Given the description of an element on the screen output the (x, y) to click on. 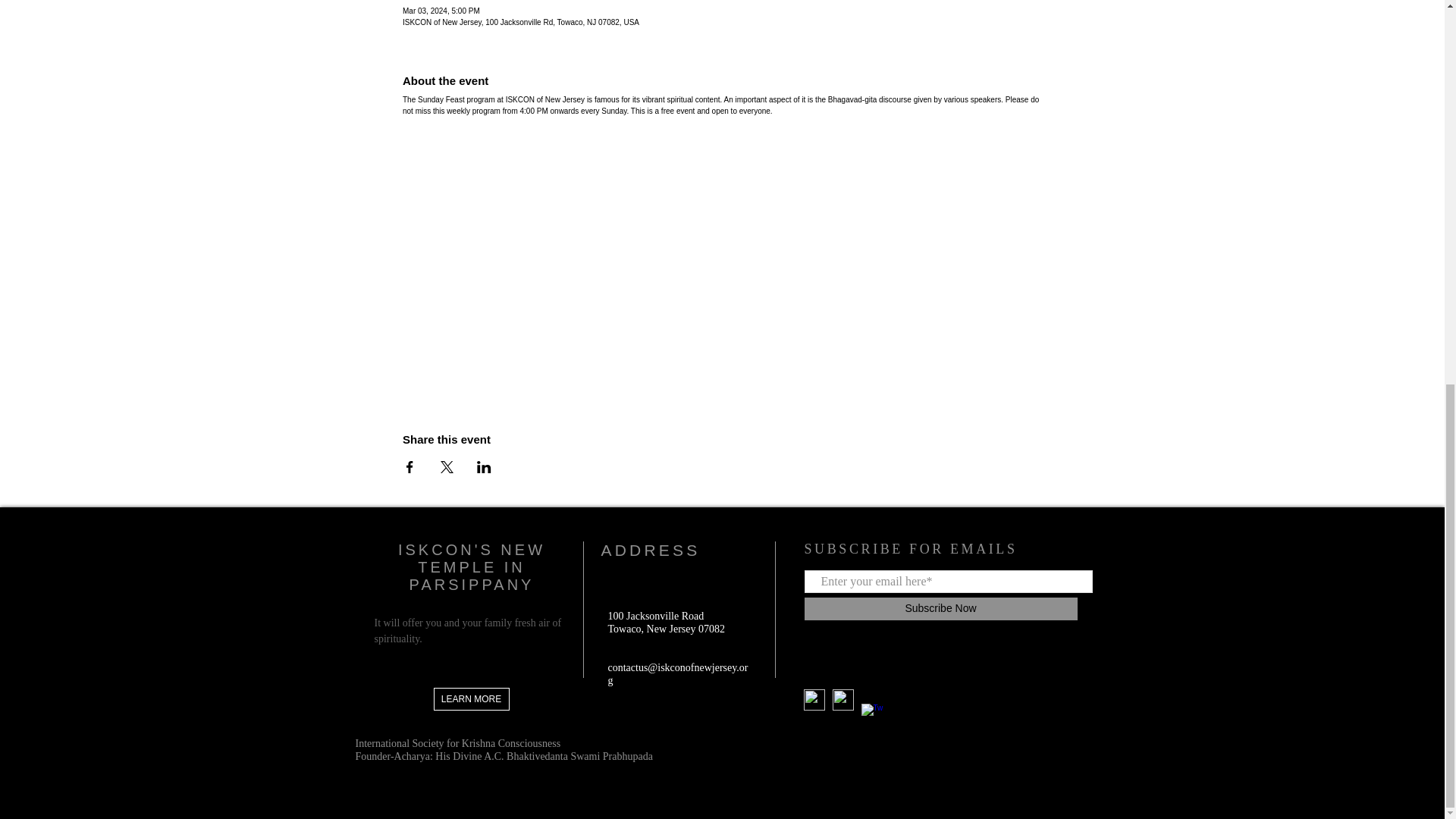
LEARN MORE (471, 698)
Subscribe Now (940, 608)
